Given the description of an element on the screen output the (x, y) to click on. 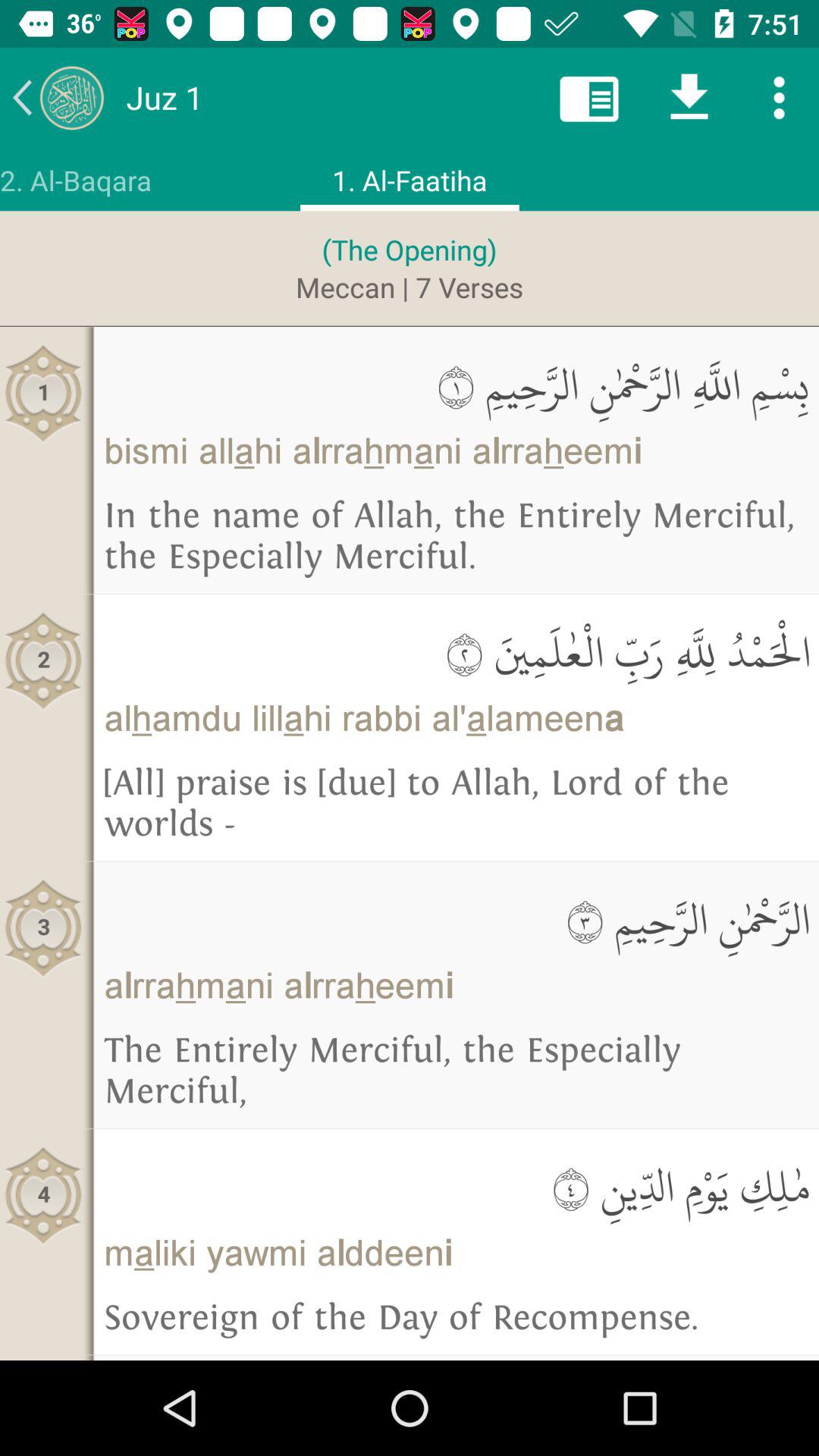
scroll down (689, 97)
